Given the description of an element on the screen output the (x, y) to click on. 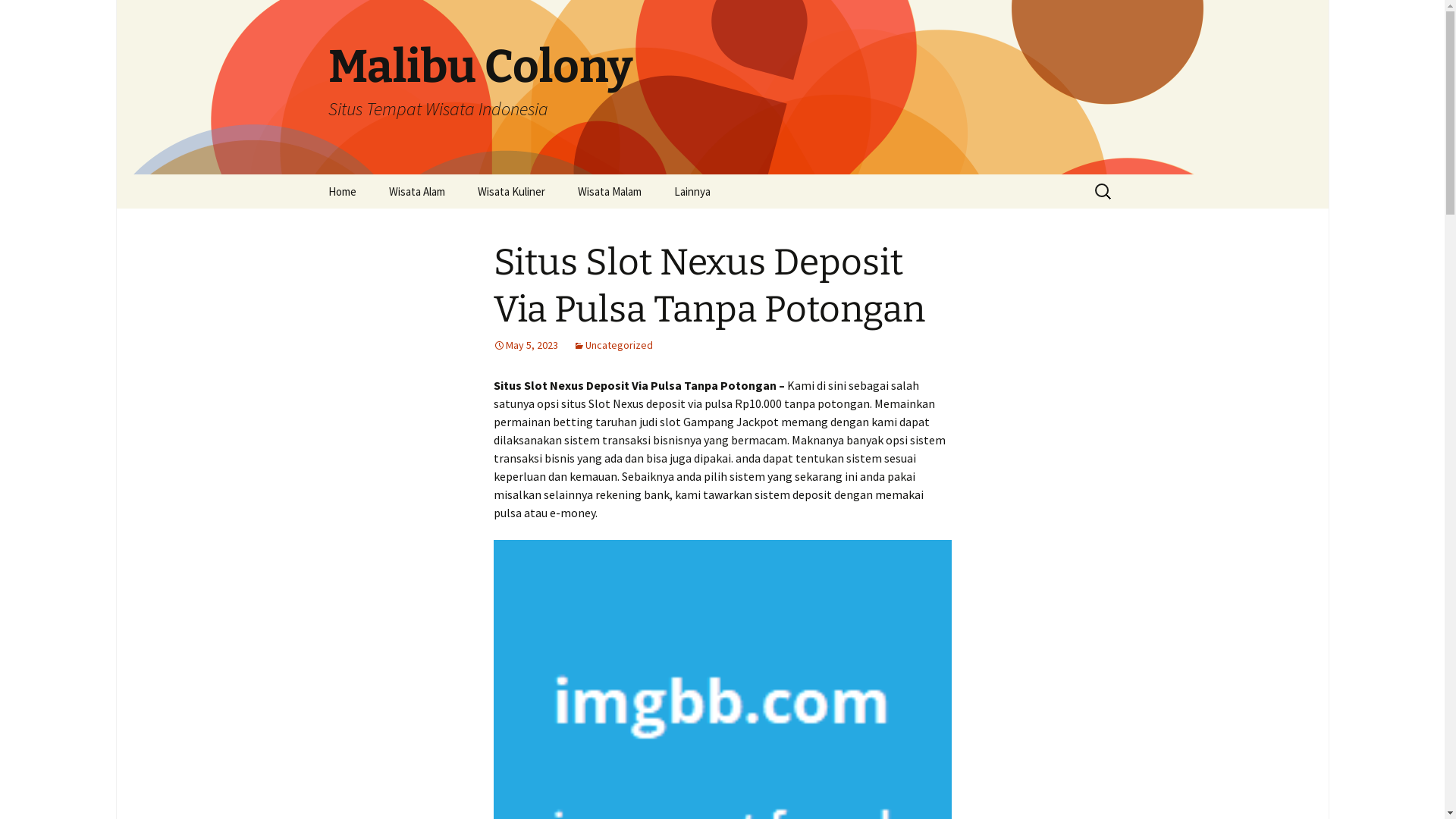
Uncategorized Element type: text (612, 344)
Skip to content Element type: text (312, 173)
Search Element type: text (18, 16)
Wisata Alam Element type: text (416, 191)
Lainnya Element type: text (691, 191)
Wisata Malam Element type: text (609, 191)
Search Element type: text (34, 15)
Home Element type: text (341, 191)
May 5, 2023 Element type: text (524, 344)
Malibu Colony
Situs Tempat Wisata Indonesia Element type: text (721, 87)
Wisata Kuliner Element type: text (511, 191)
